Given the description of an element on the screen output the (x, y) to click on. 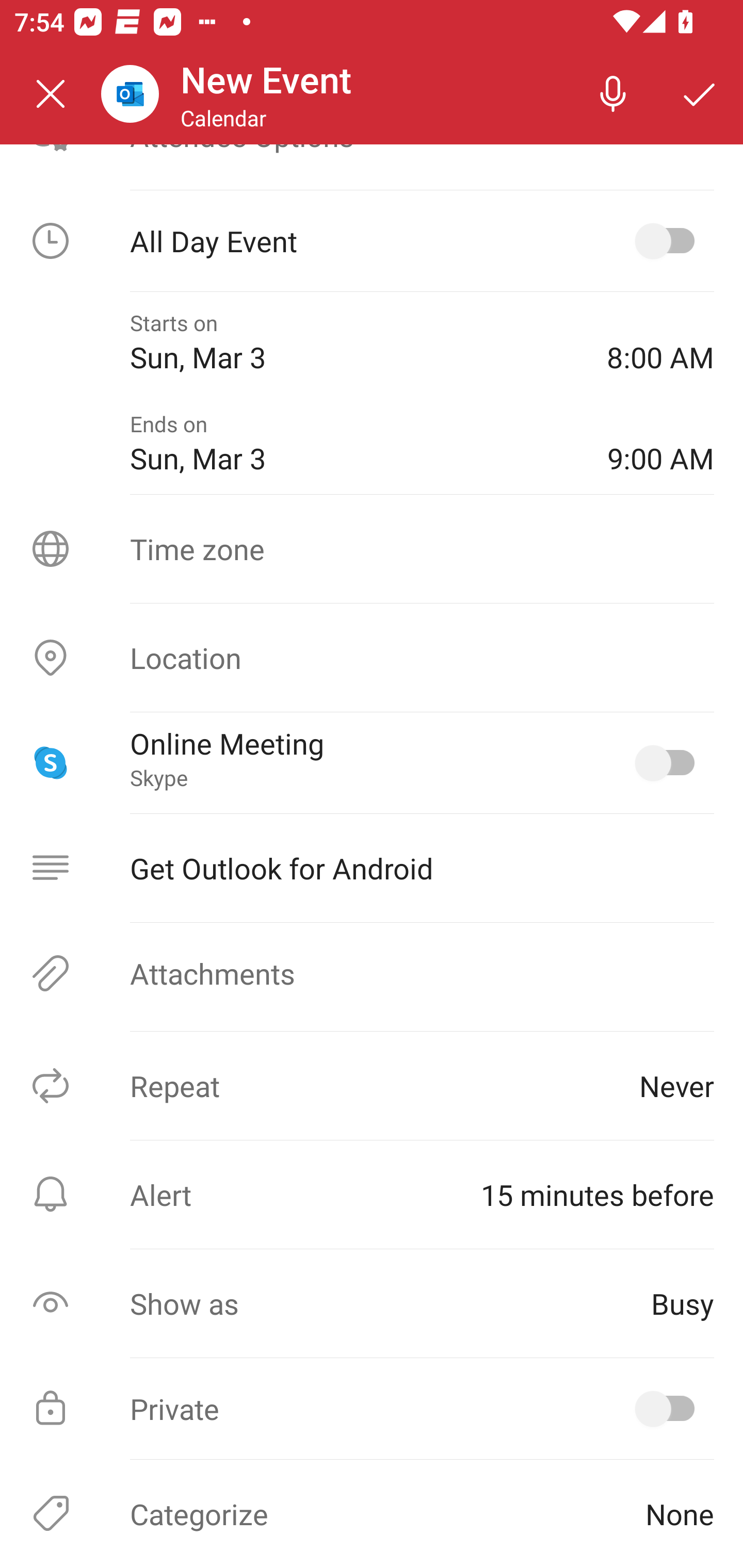
Close (50, 93)
Save (699, 93)
All Day Event (371, 240)
Starts on Sun, Mar 3 (353, 342)
8:00 AM (660, 342)
Ends on Sun, Mar 3 (353, 443)
9:00 AM (660, 443)
Time zone (371, 548)
Location (371, 657)
Online Meeting, Skype selected (669, 762)
Attachments (371, 972)
Repeat Never (371, 1085)
Alert ⁨15 minutes before (371, 1193)
Show as Busy (371, 1303)
Private (371, 1408)
Categorize None (371, 1513)
